Given the description of an element on the screen output the (x, y) to click on. 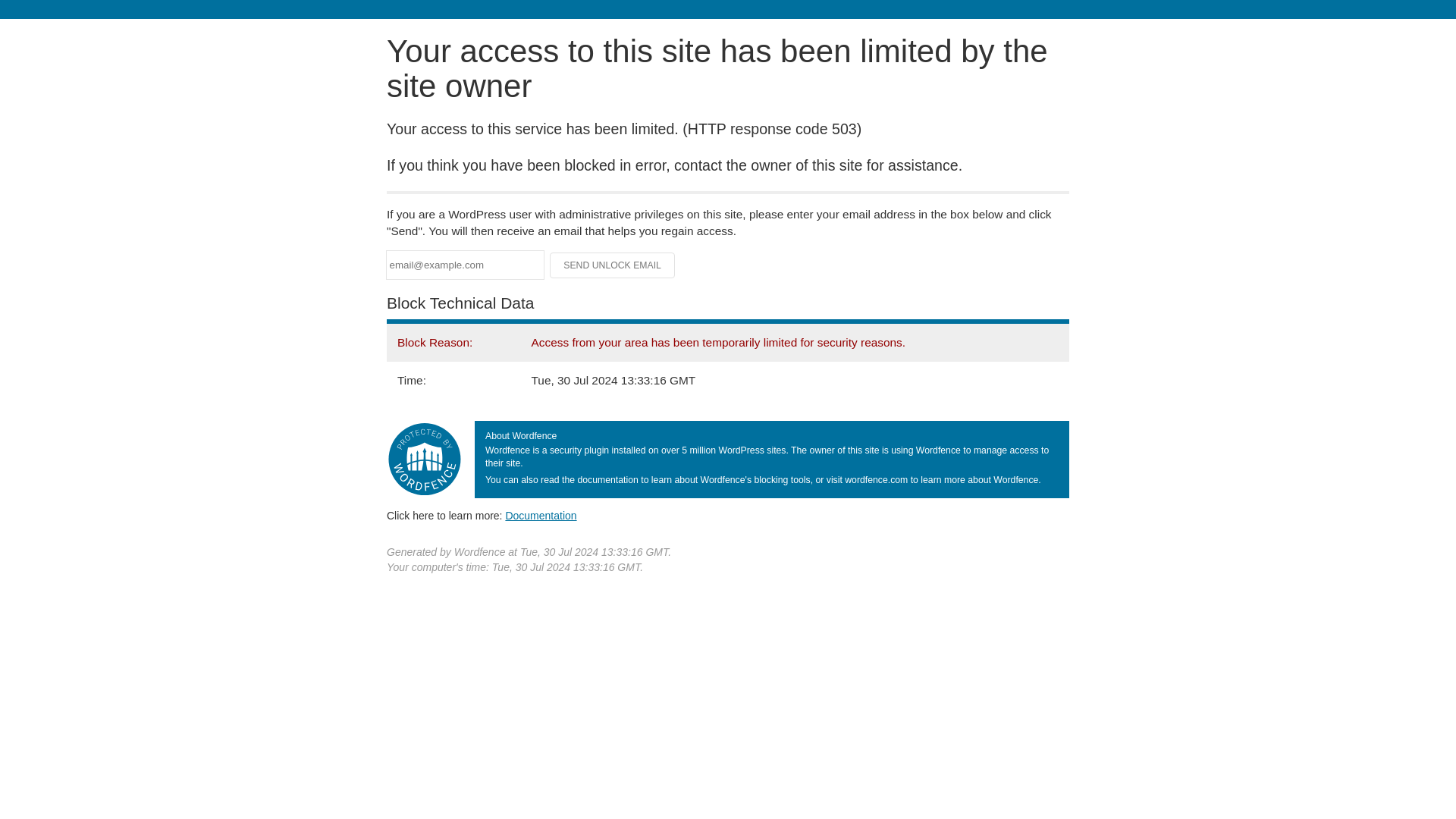
Send Unlock Email (612, 265)
Send Unlock Email (612, 265)
Documentation (540, 515)
